Given the description of an element on the screen output the (x, y) to click on. 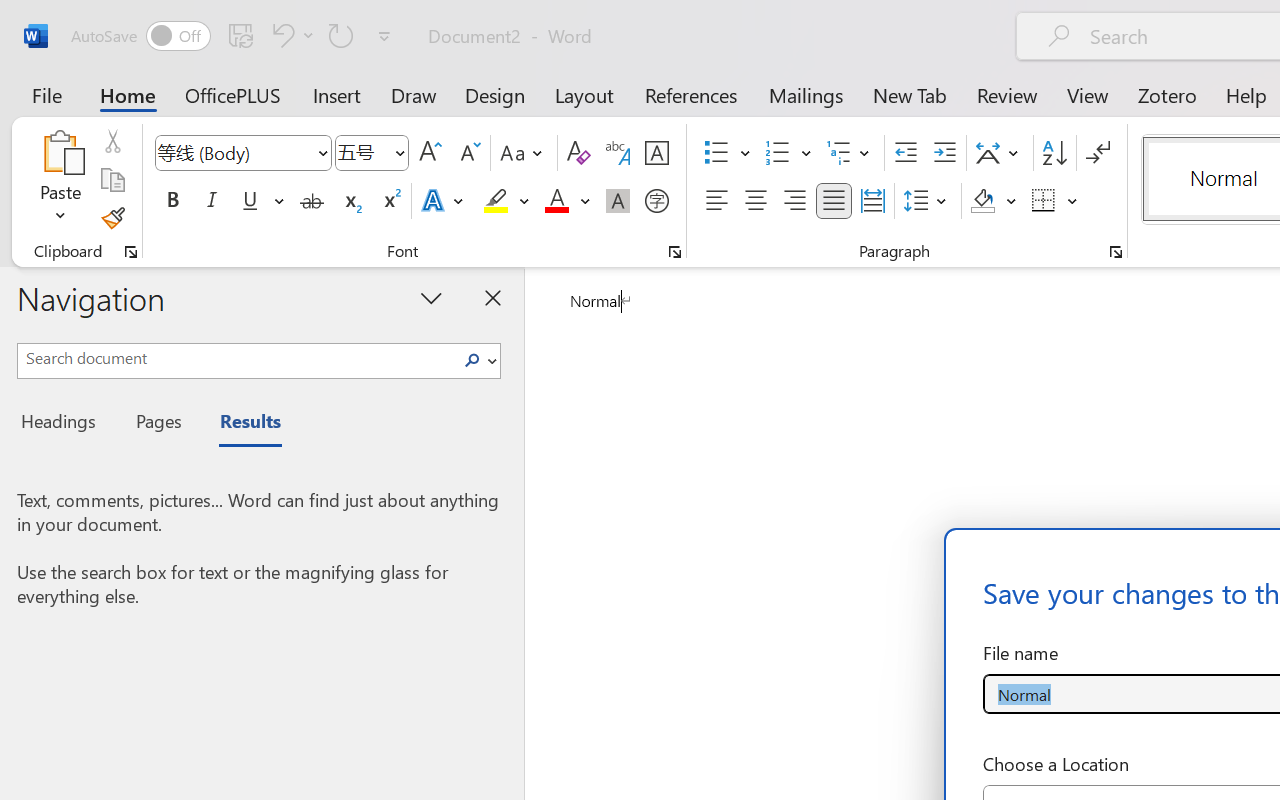
Search document (236, 358)
New Tab (909, 94)
Font Color (567, 201)
Text Effects and Typography (444, 201)
Font Color Red (556, 201)
Shading (993, 201)
OfficePLUS (233, 94)
Font... (675, 252)
Class: NetUIImage (471, 360)
Phonetic Guide... (618, 153)
Increase Indent (944, 153)
